Given the description of an element on the screen output the (x, y) to click on. 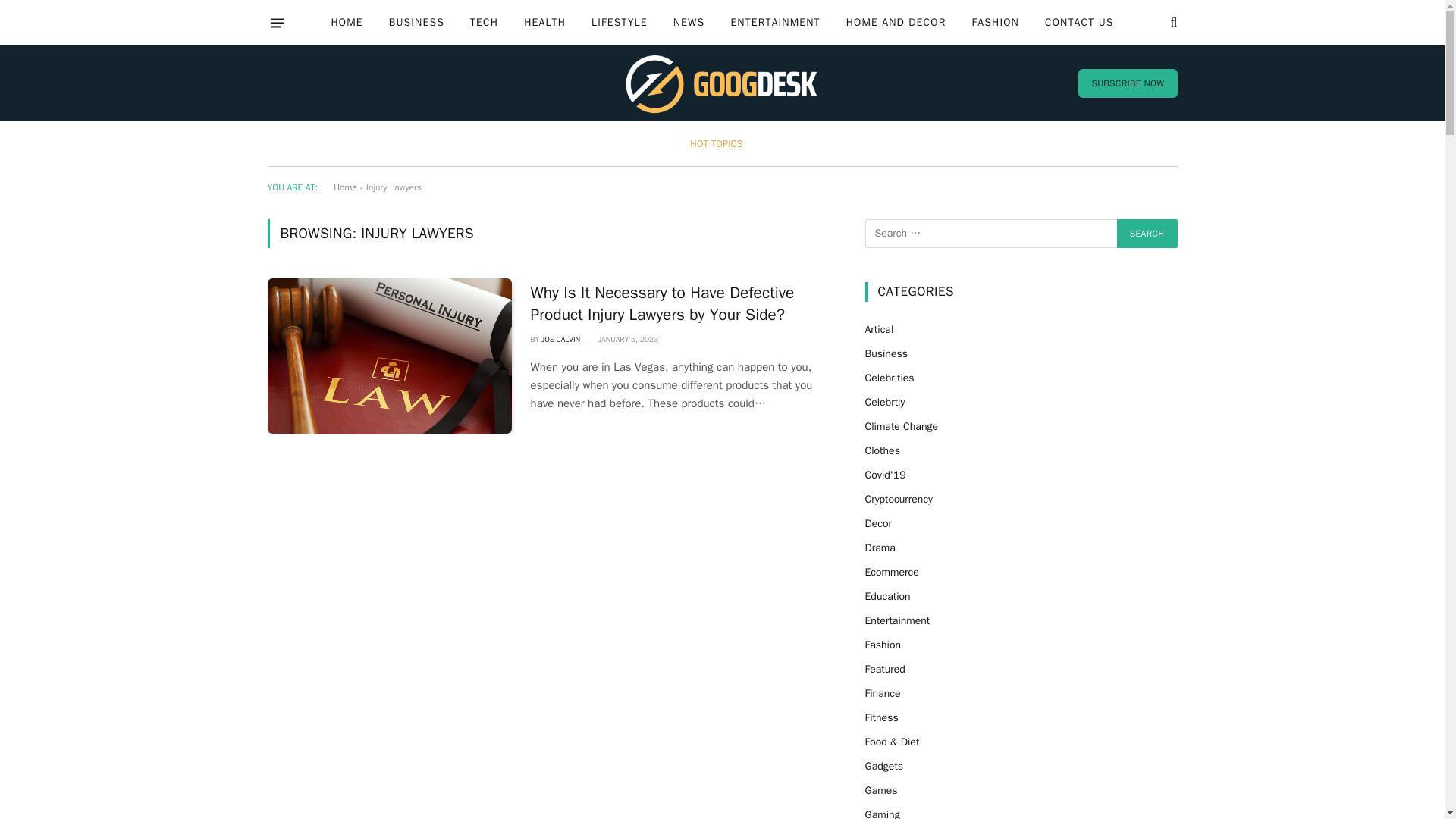
SUBSCRIBE NOW (1127, 82)
Home (344, 186)
Googdesk (721, 83)
Search (1146, 233)
TECH (484, 22)
HOME AND DECOR (895, 22)
HEALTH (544, 22)
ENTERTAINMENT (774, 22)
BUSINESS (416, 22)
